Given the description of an element on the screen output the (x, y) to click on. 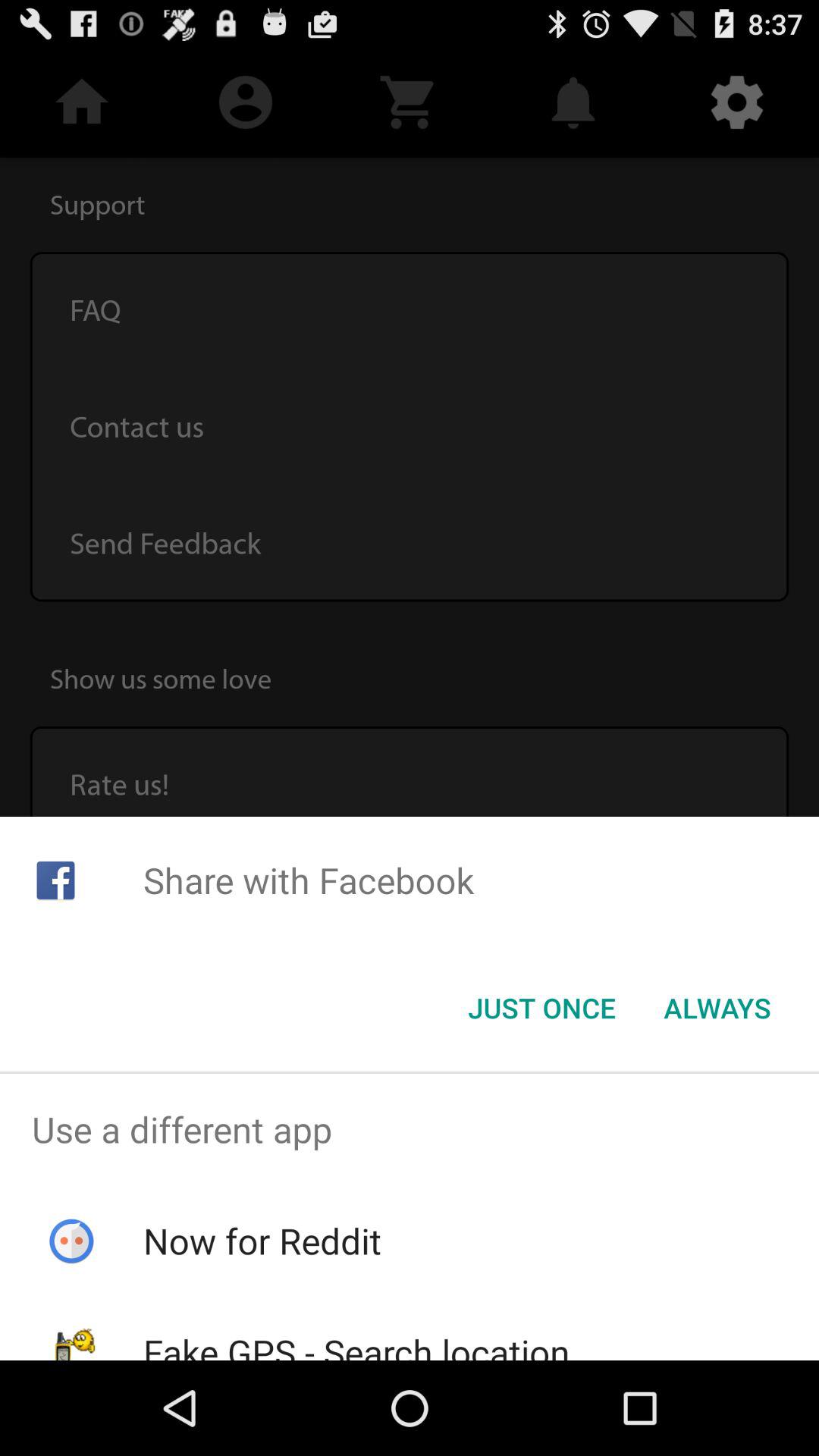
tap the app below the share with facebook app (541, 1007)
